Given the description of an element on the screen output the (x, y) to click on. 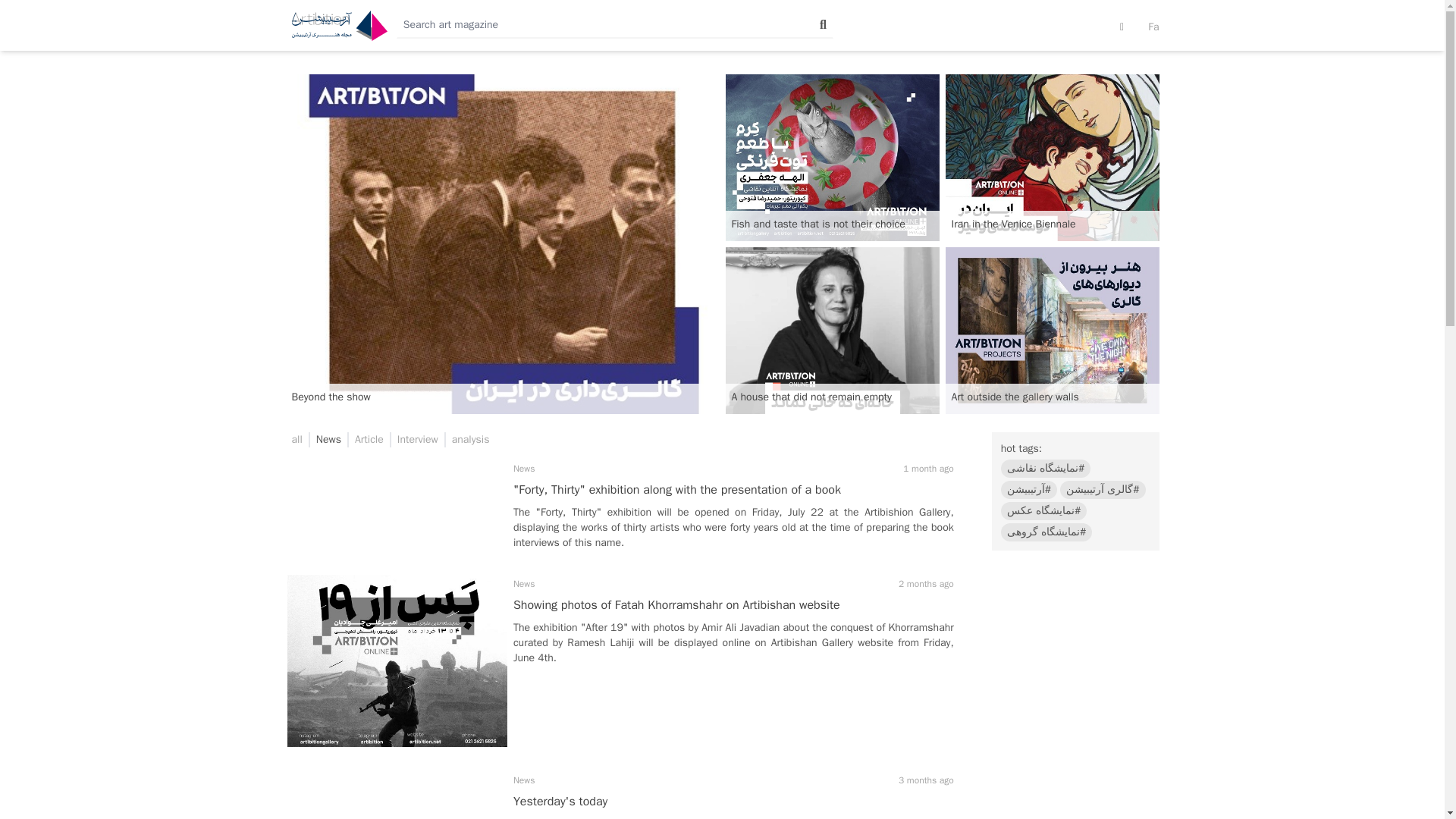
Showing photos of Fatah Khorramshahr on Artibishan website (676, 604)
Iran in the Venice Biennale (1051, 157)
Fish and taste that is not their choice (832, 157)
analysis (470, 439)
Iran in the Venice Biennale (1051, 157)
Art outside the gallery walls (1051, 330)
A house that did not remain empty (832, 330)
Fish and taste that is not their choice (832, 157)
